Given the description of an element on the screen output the (x, y) to click on. 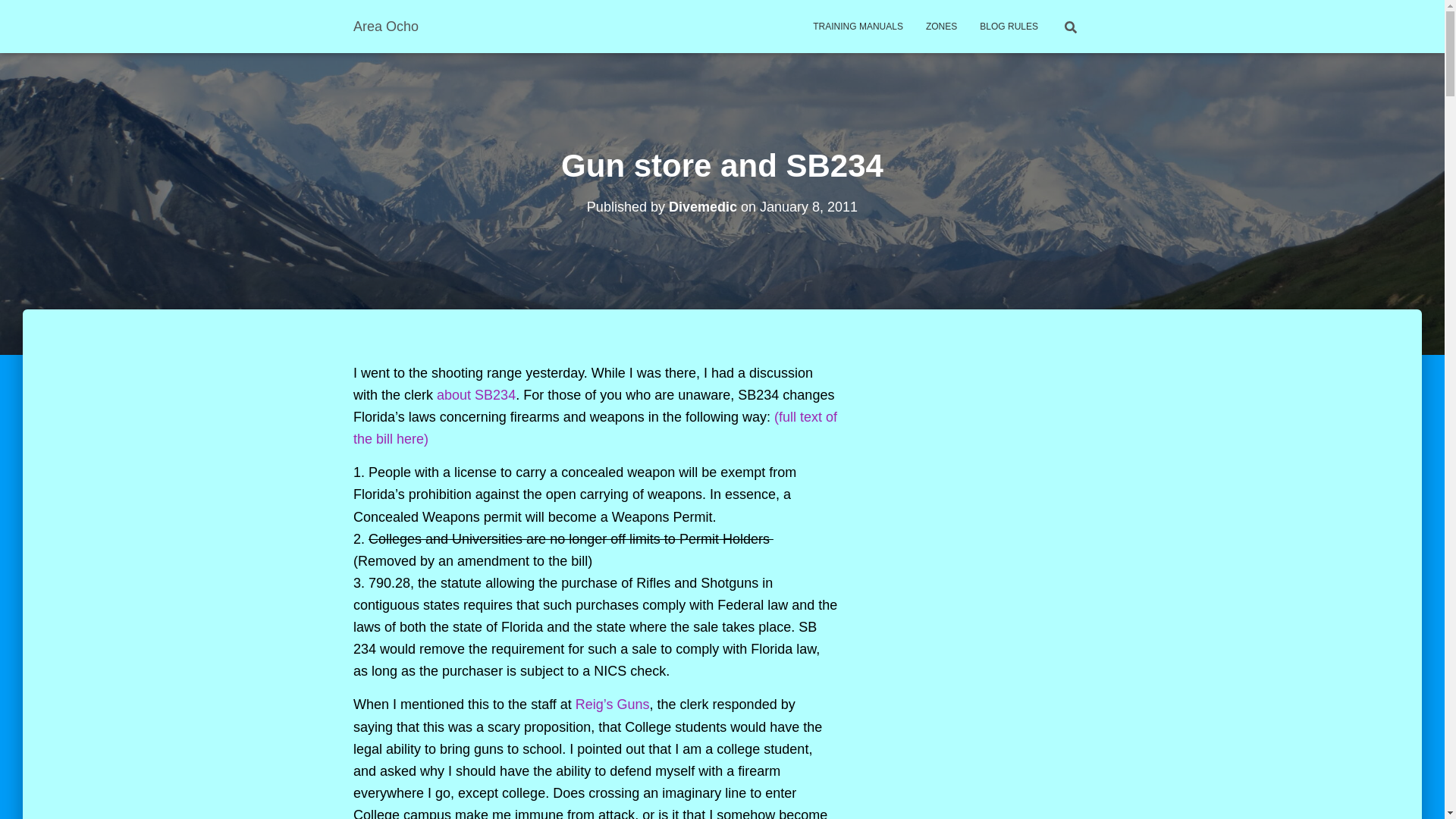
ZONES (941, 26)
Area Ocho (385, 26)
Zones (941, 26)
Training Manuals (858, 26)
Area Ocho (385, 26)
Divemedic (702, 206)
TRAINING MANUALS (858, 26)
about SB234 (475, 394)
Blog Rules (1008, 26)
BLOG RULES (1008, 26)
